Given the description of an element on the screen output the (x, y) to click on. 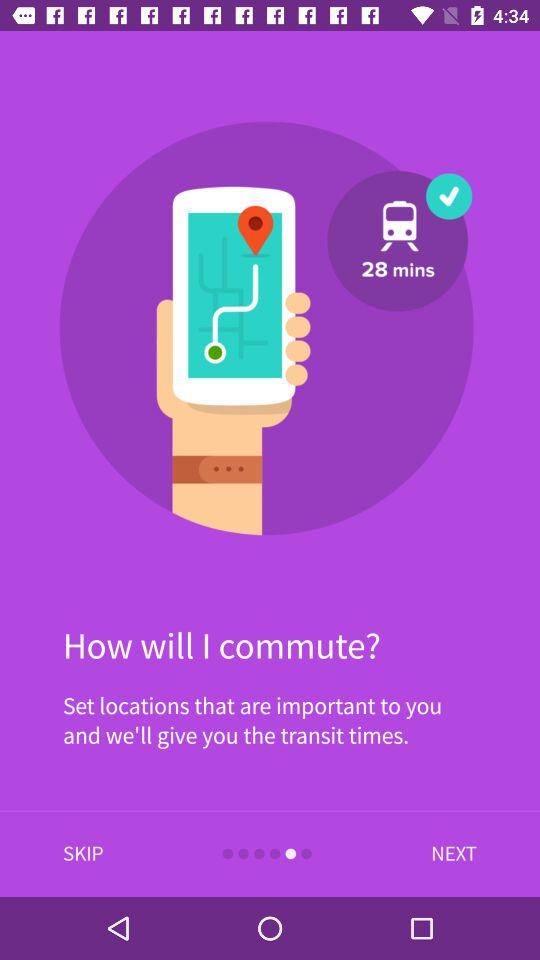
click the item below the set locations that item (449, 853)
